Given the description of an element on the screen output the (x, y) to click on. 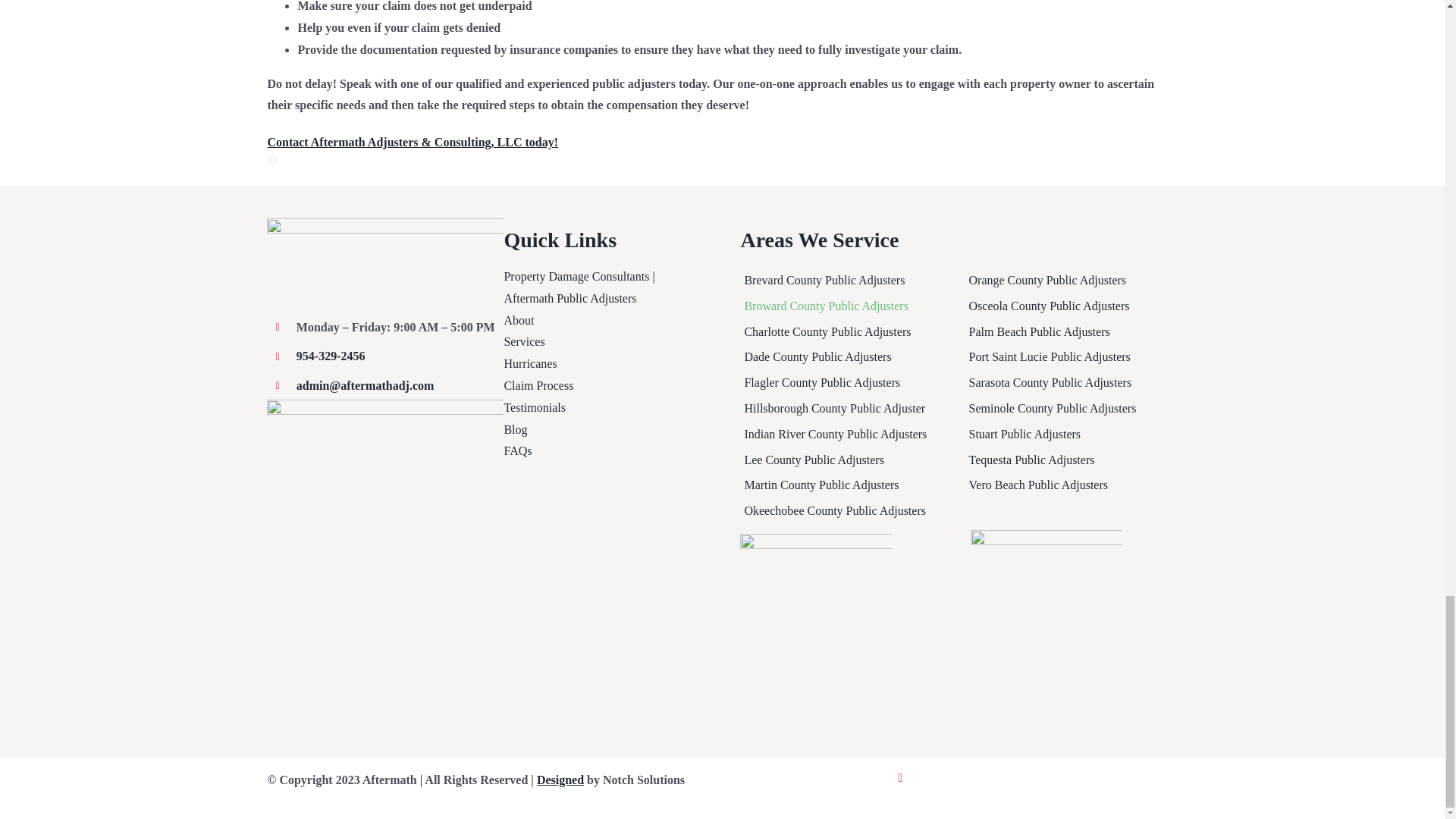
Services (603, 341)
Public Adjusters Broward County (845, 304)
transparent (384, 263)
Hurricanes (603, 363)
Claim Process (603, 386)
About (603, 321)
Palm Beach Public Adjusters (1069, 330)
954-329-2456 (331, 355)
